Given the description of an element on the screen output the (x, y) to click on. 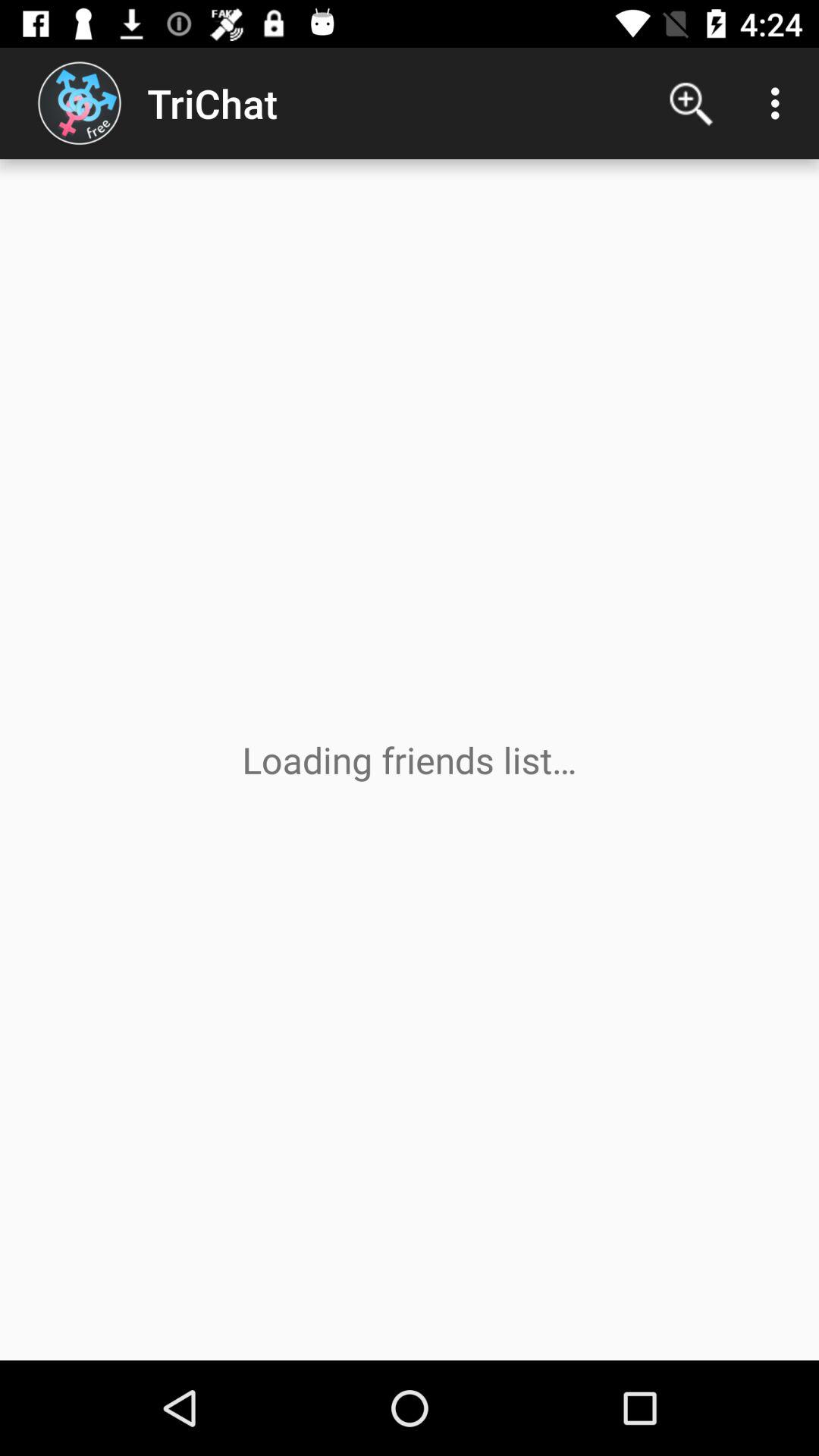
tap icon next to the trichat (691, 103)
